Given the description of an element on the screen output the (x, y) to click on. 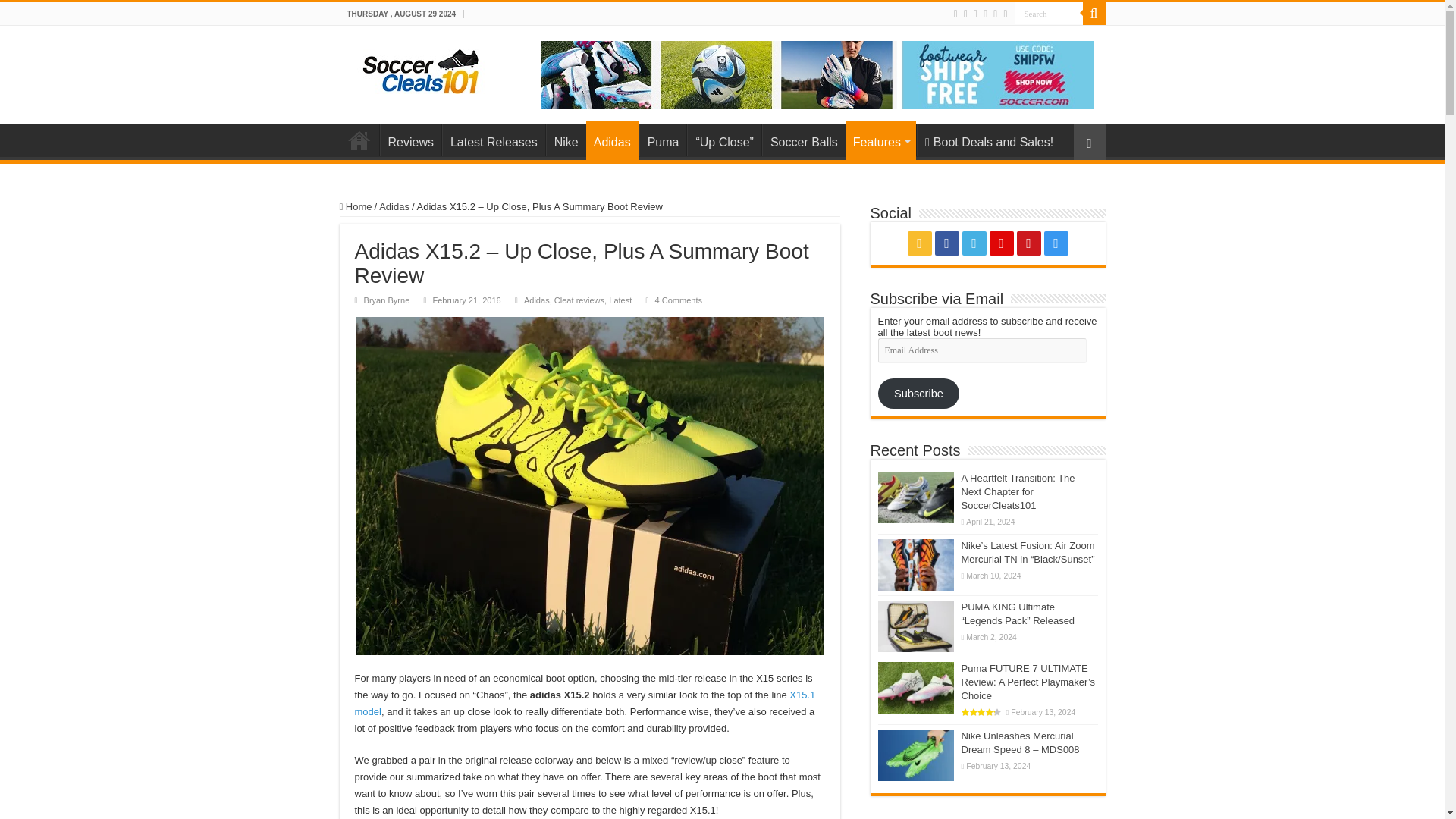
Search (1048, 13)
Nike (566, 140)
Search (1048, 13)
Reviews (409, 140)
Search (1048, 13)
Puma (663, 140)
Latest Releases (493, 140)
Search (1094, 13)
Adidas (612, 139)
Home (358, 140)
